Given the description of an element on the screen output the (x, y) to click on. 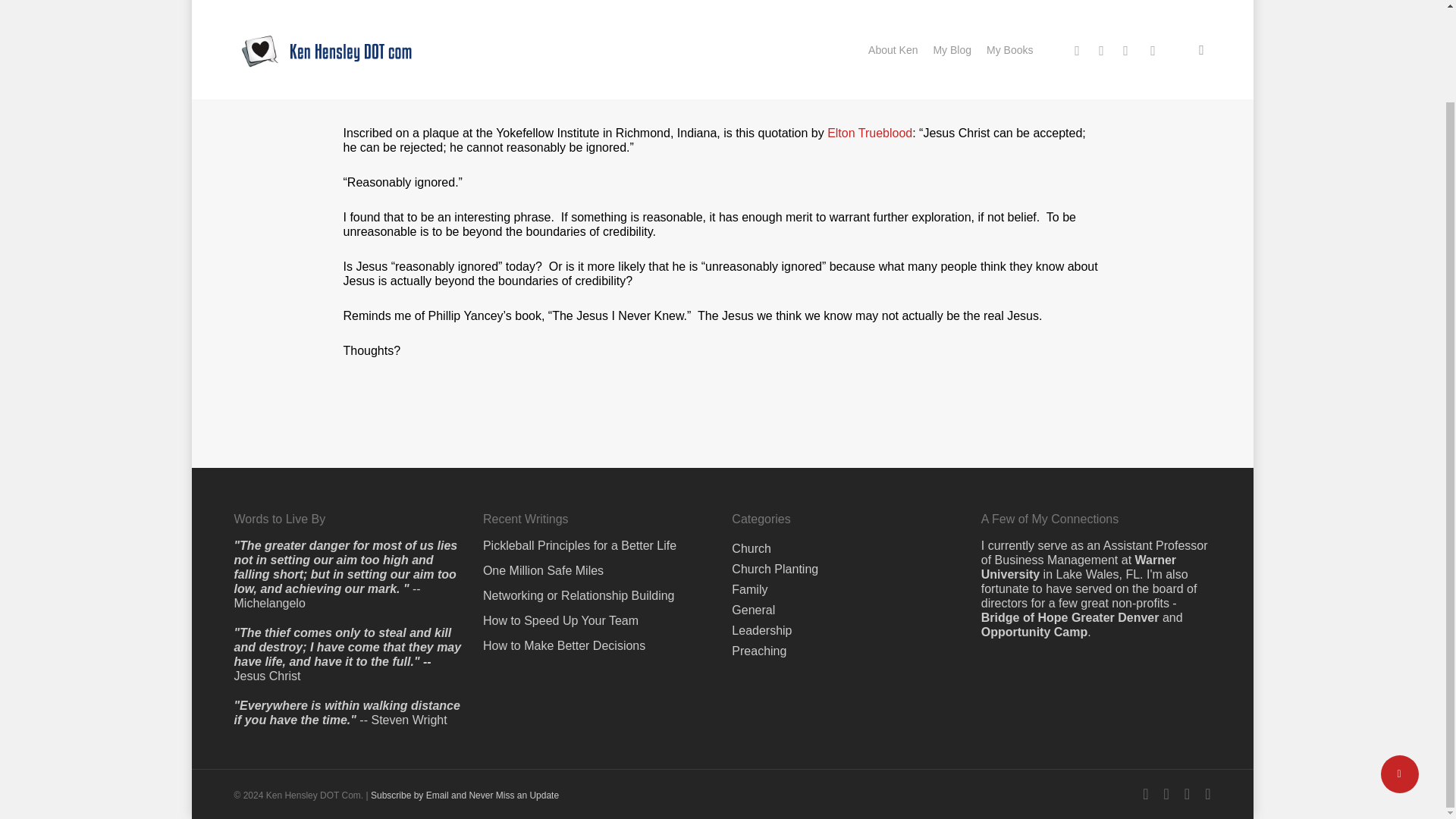
Church (323, 52)
Ken (262, 52)
Posts by Ken (262, 52)
Preaching (759, 544)
One Million Safe Miles (598, 464)
Elton Trueblood (869, 132)
Church Planting (775, 462)
Church (751, 441)
Subscribe by Email and Never Miss an Update (465, 688)
Warner University (1078, 461)
Pickleball Principles for a Better Life (598, 439)
No Comments (1140, 62)
General (753, 503)
Leadership (762, 523)
How to Speed Up Your Team (598, 513)
